Given the description of an element on the screen output the (x, y) to click on. 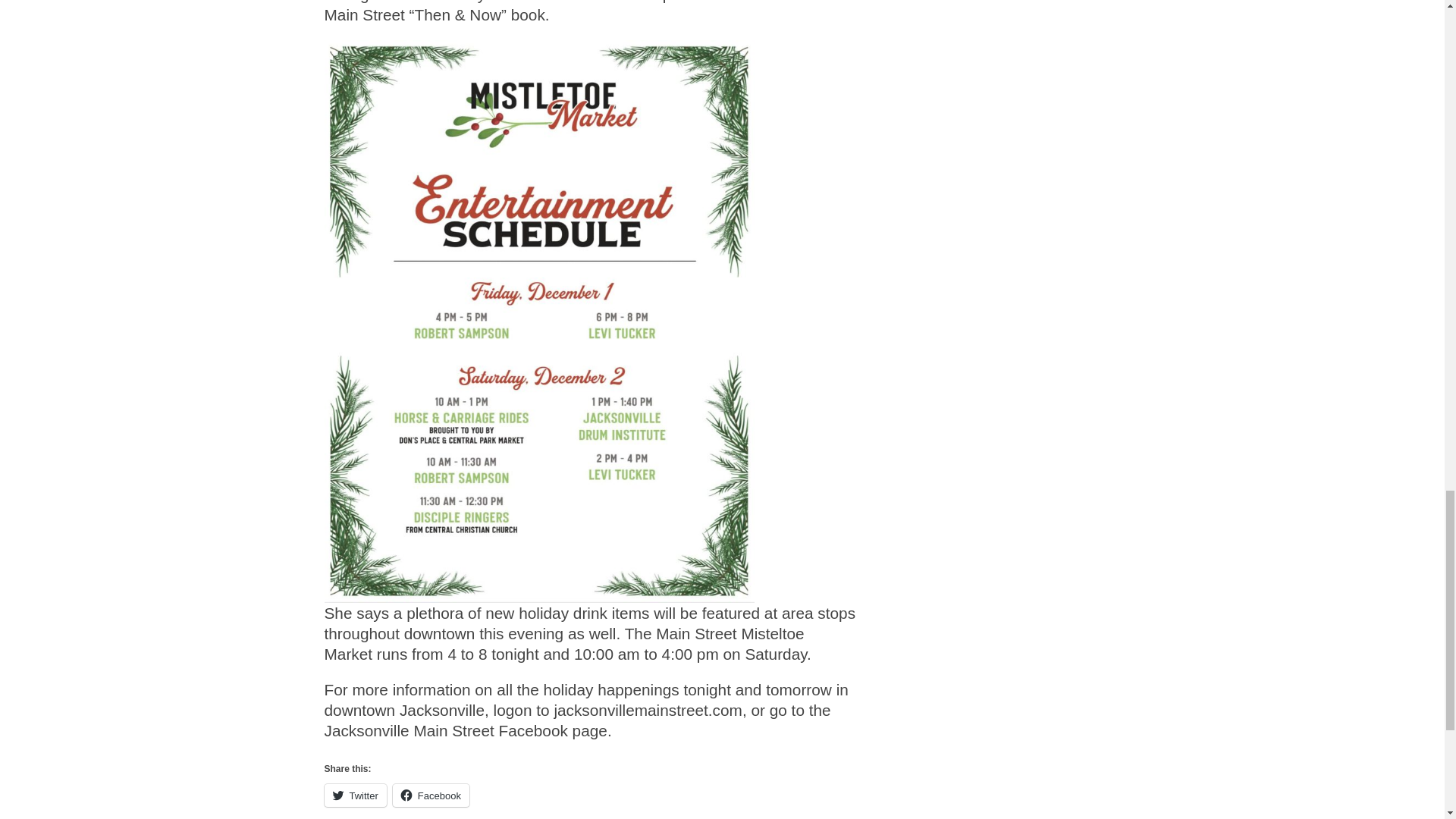
Click to share on Facebook (430, 794)
Facebook (430, 794)
Twitter (355, 794)
Click to share on Twitter (355, 794)
